Given the description of an element on the screen output the (x, y) to click on. 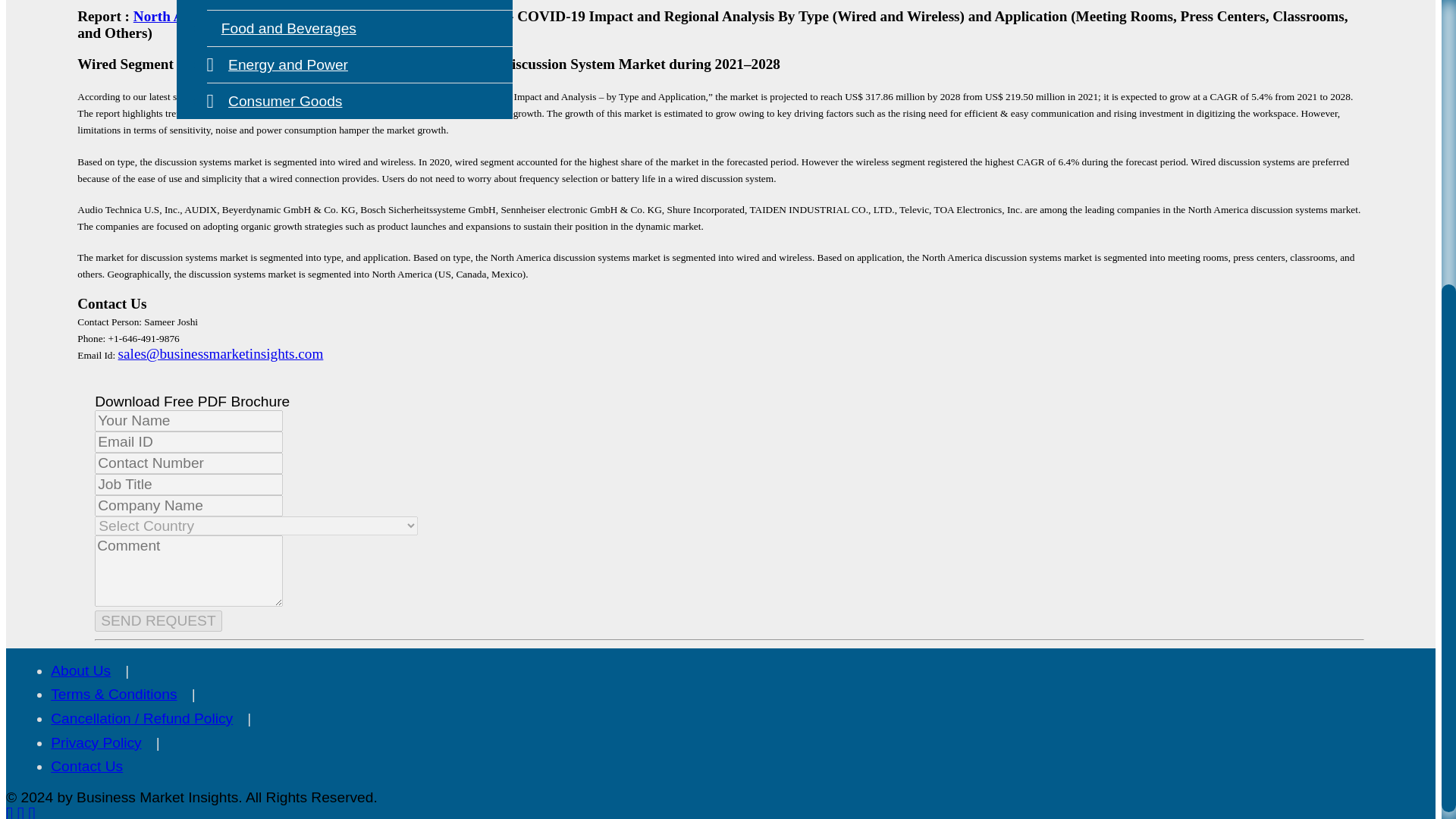
North America Discussion Systems Market (268, 16)
Contact Us (86, 765)
Energy and Power (276, 64)
Consumer Goods (274, 100)
SEND REQUEST (157, 620)
Privacy Policy (95, 742)
About Us (80, 670)
SEND REQUEST (157, 620)
Food and Beverages (281, 28)
